Given the description of an element on the screen output the (x, y) to click on. 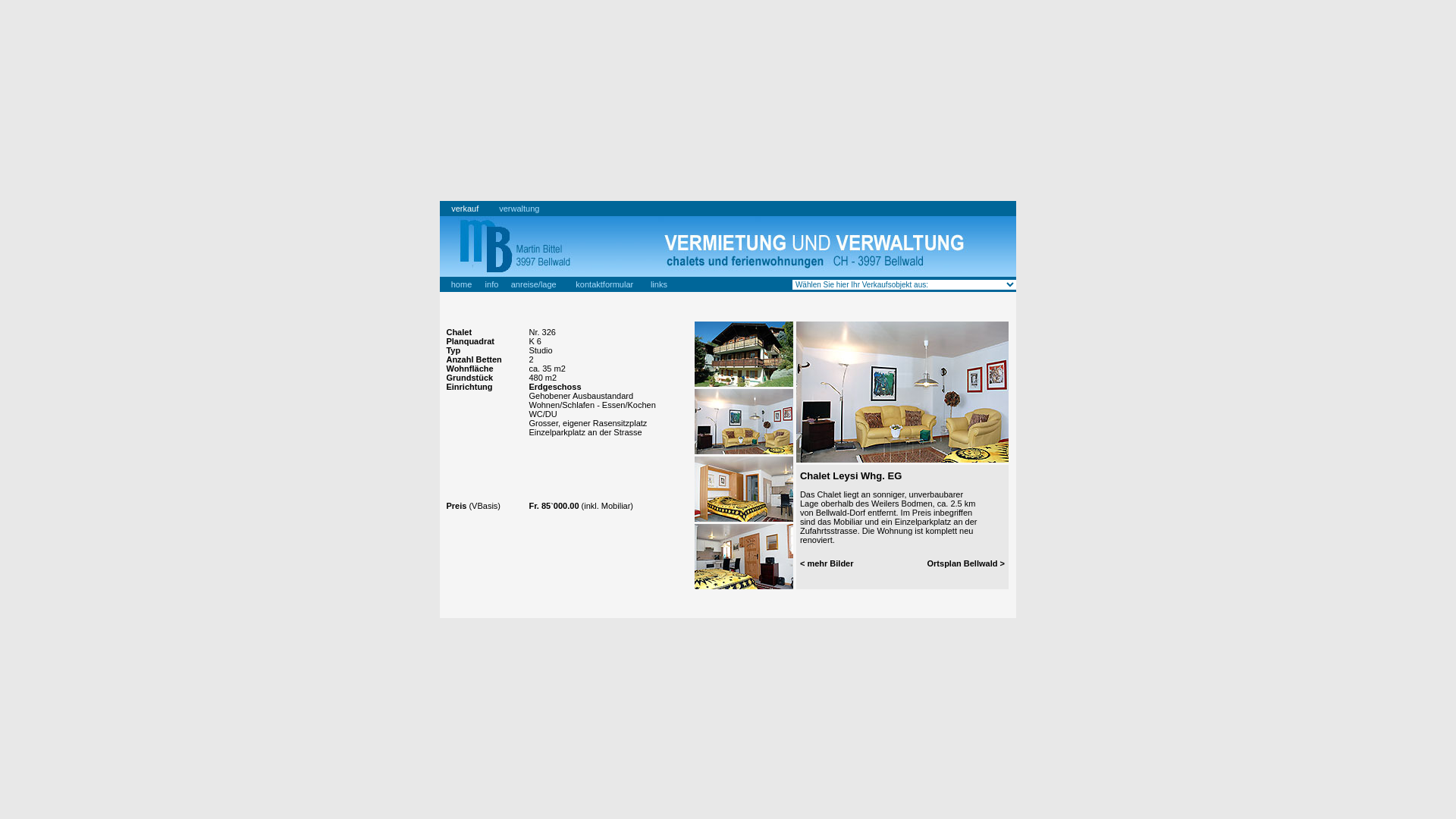
anreise/lage Element type: text (533, 283)
home Element type: text (461, 283)
verwaltung Element type: text (518, 208)
kontaktformular Element type: text (604, 283)
Ortsplan Bellwald > Element type: text (965, 562)
info Element type: text (491, 283)
< mehr Bilder Element type: text (826, 562)
links Element type: text (658, 283)
